Given the description of an element on the screen output the (x, y) to click on. 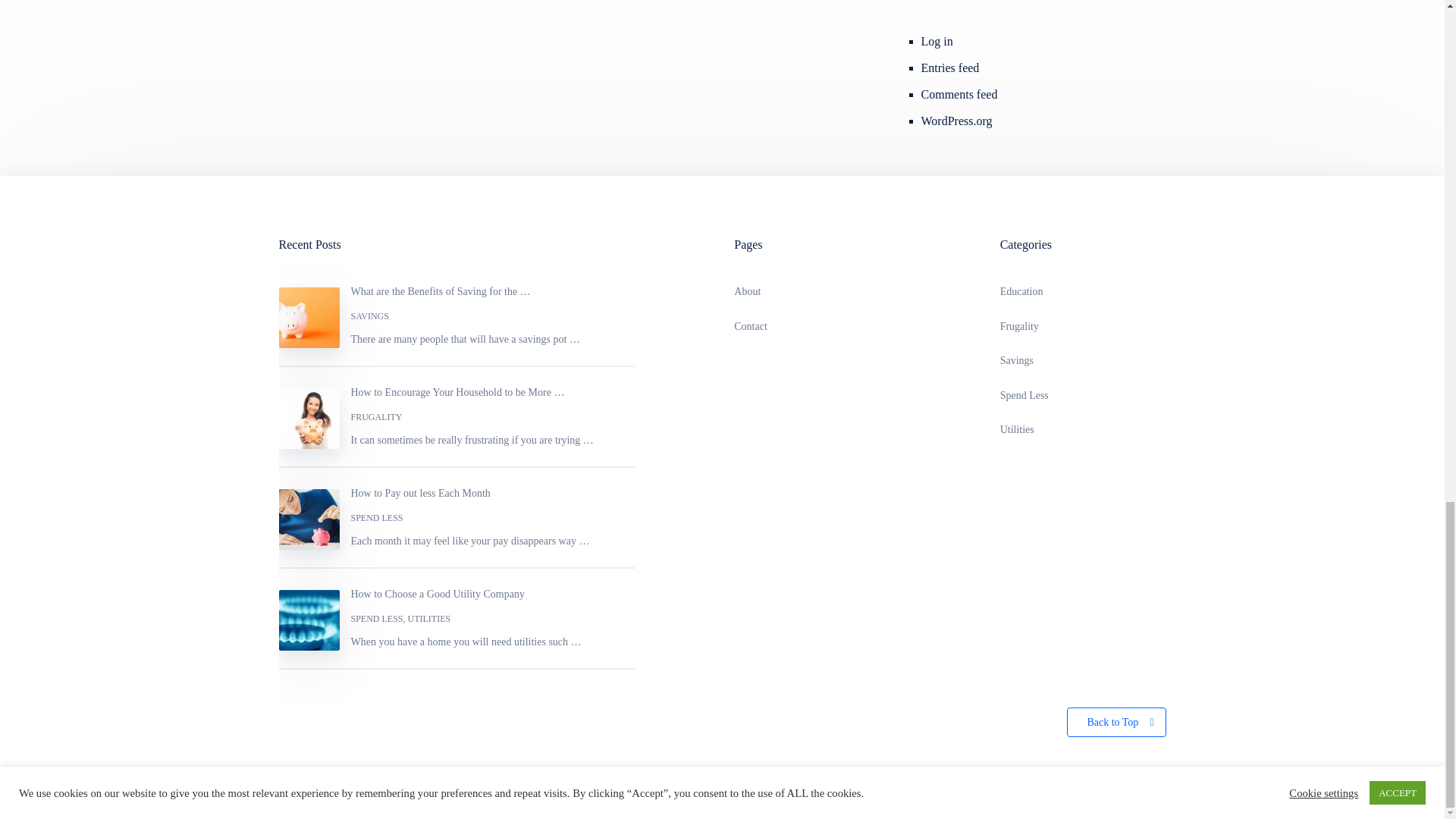
Comments feed (959, 93)
Entries feed (950, 67)
SAVINGS (369, 316)
Log in (937, 41)
WordPress.org (956, 120)
